Given the description of an element on the screen output the (x, y) to click on. 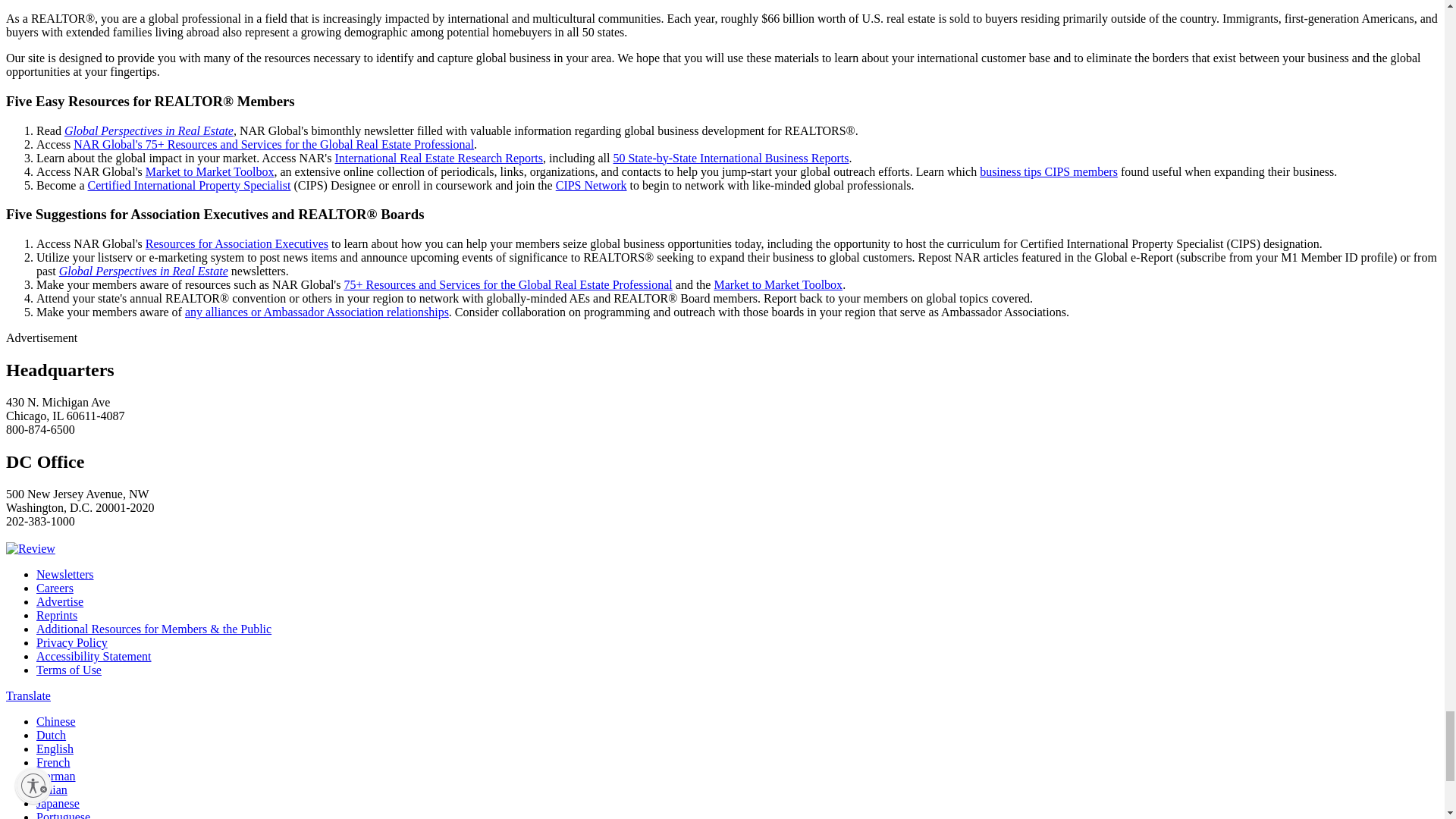
Green Business Benchmark (30, 548)
